Given the description of an element on the screen output the (x, y) to click on. 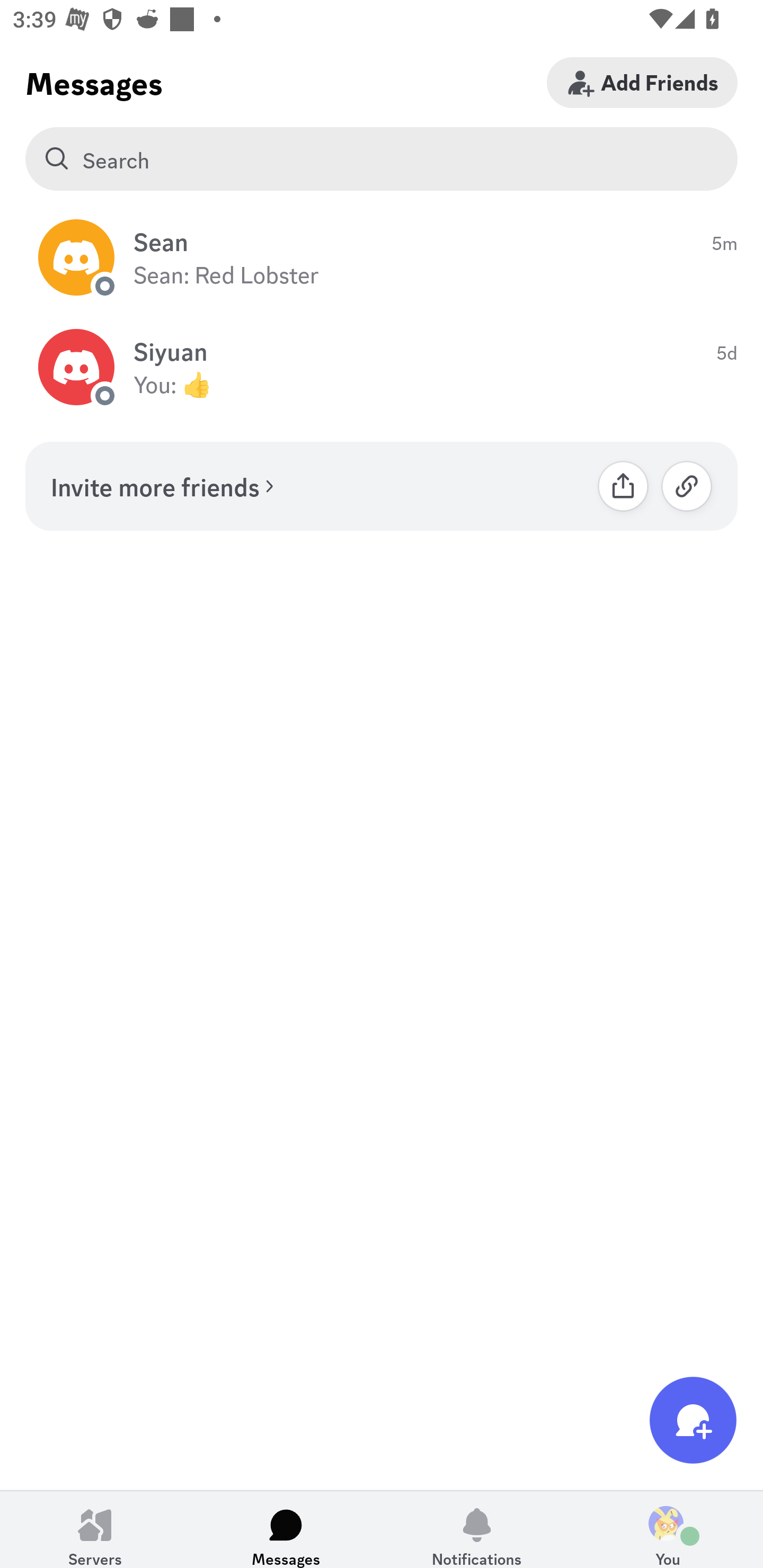
Add Friends (642, 82)
Search (381, 159)
Sean (direct message) Sean 5m Sean: Red Lobster (381, 257)
Siyuan (direct message) Siyuan 5d You: 👍 (381, 367)
Share Link (622, 485)
Copy Link (686, 485)
New Message (692, 1419)
Servers (95, 1529)
Messages (285, 1529)
Notifications (476, 1529)
You (667, 1529)
